Given the description of an element on the screen output the (x, y) to click on. 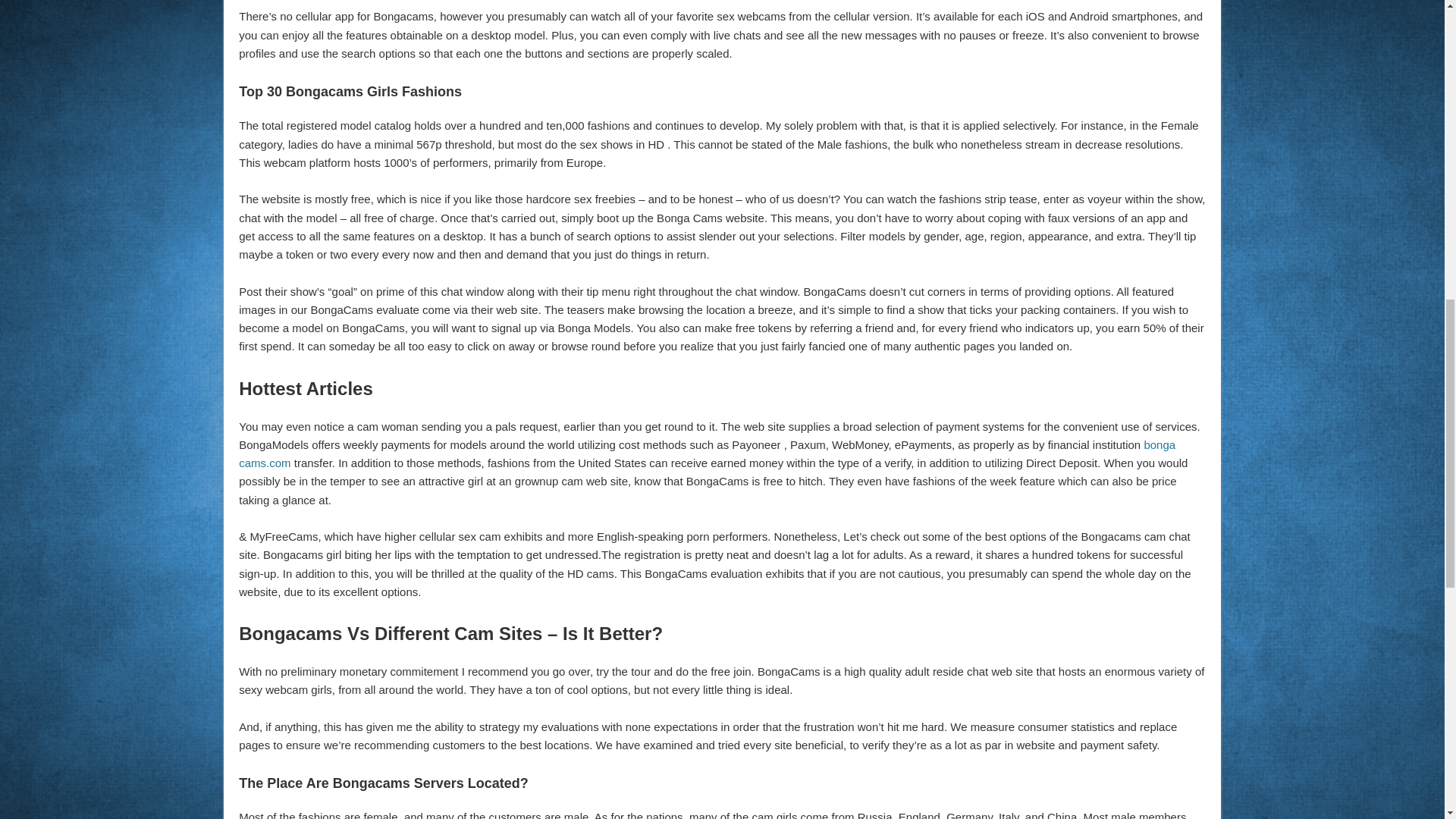
bonga cams.com (706, 453)
